Given the description of an element on the screen output the (x, y) to click on. 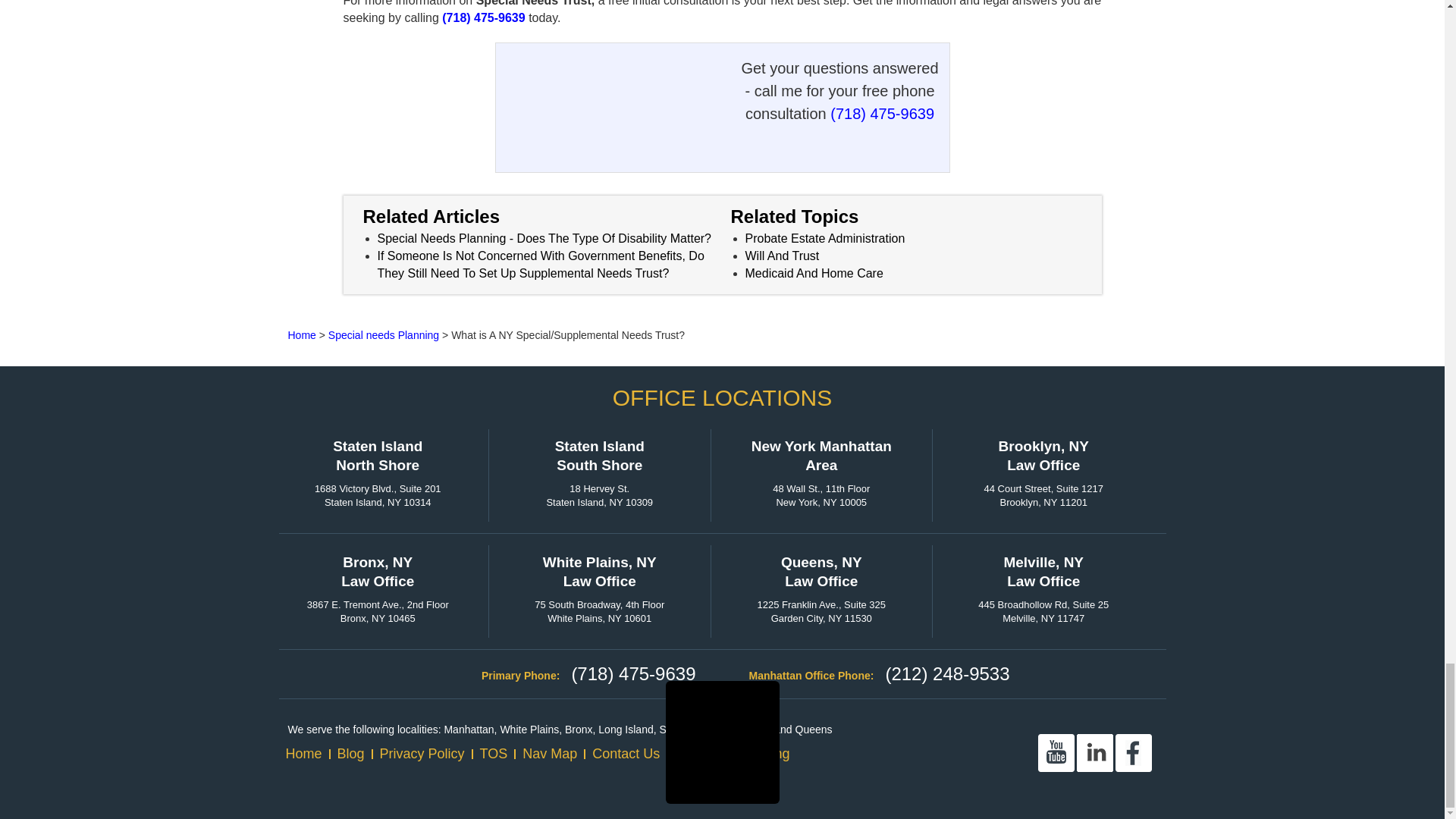
Go to Michael Camporeale. (301, 335)
Go to Special needs Planning. (384, 335)
Special Needs Planning - Does The Type Of Disability Matter? (544, 237)
